Given the description of an element on the screen output the (x, y) to click on. 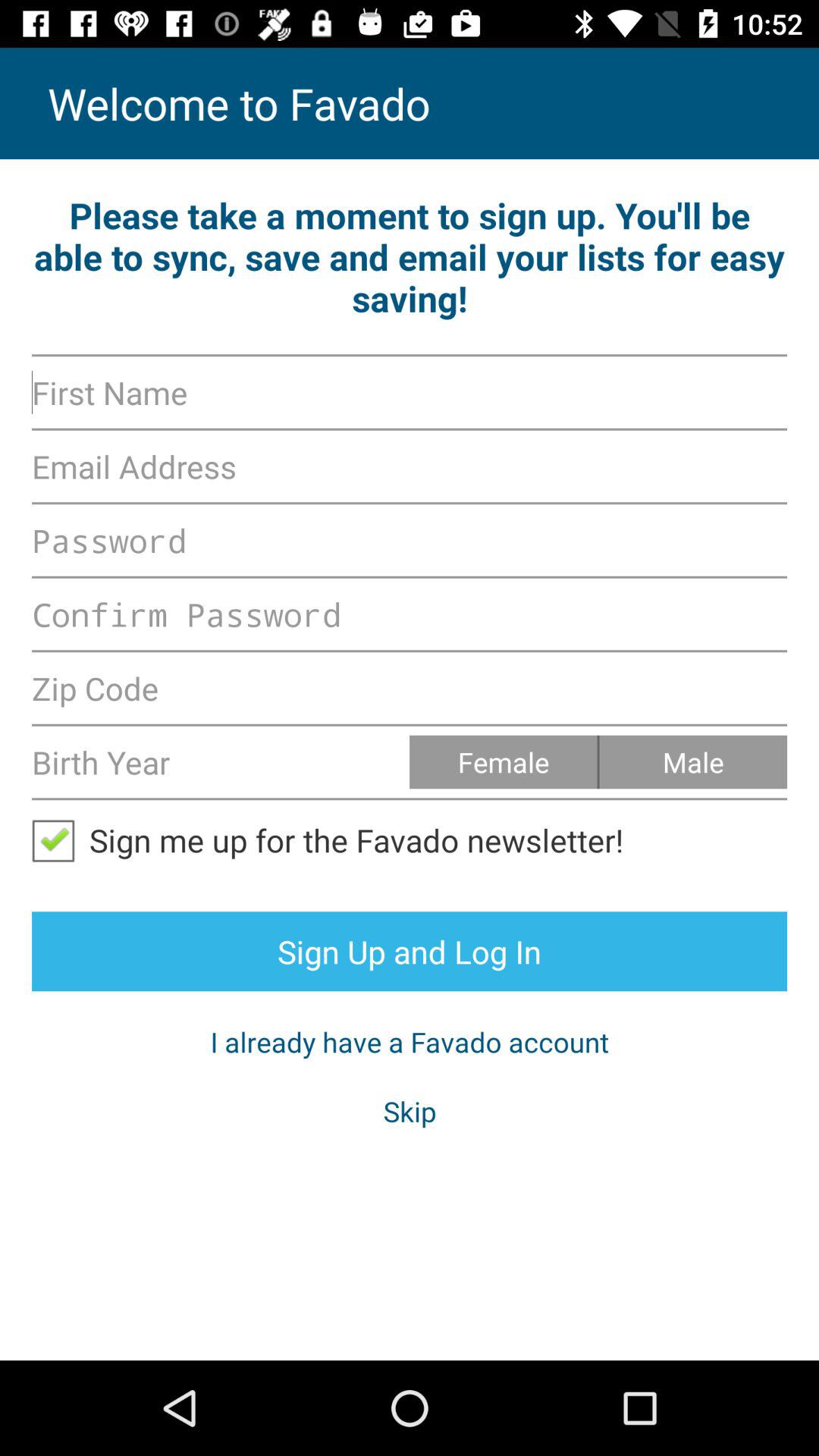
enter zipcode (409, 688)
